Given the description of an element on the screen output the (x, y) to click on. 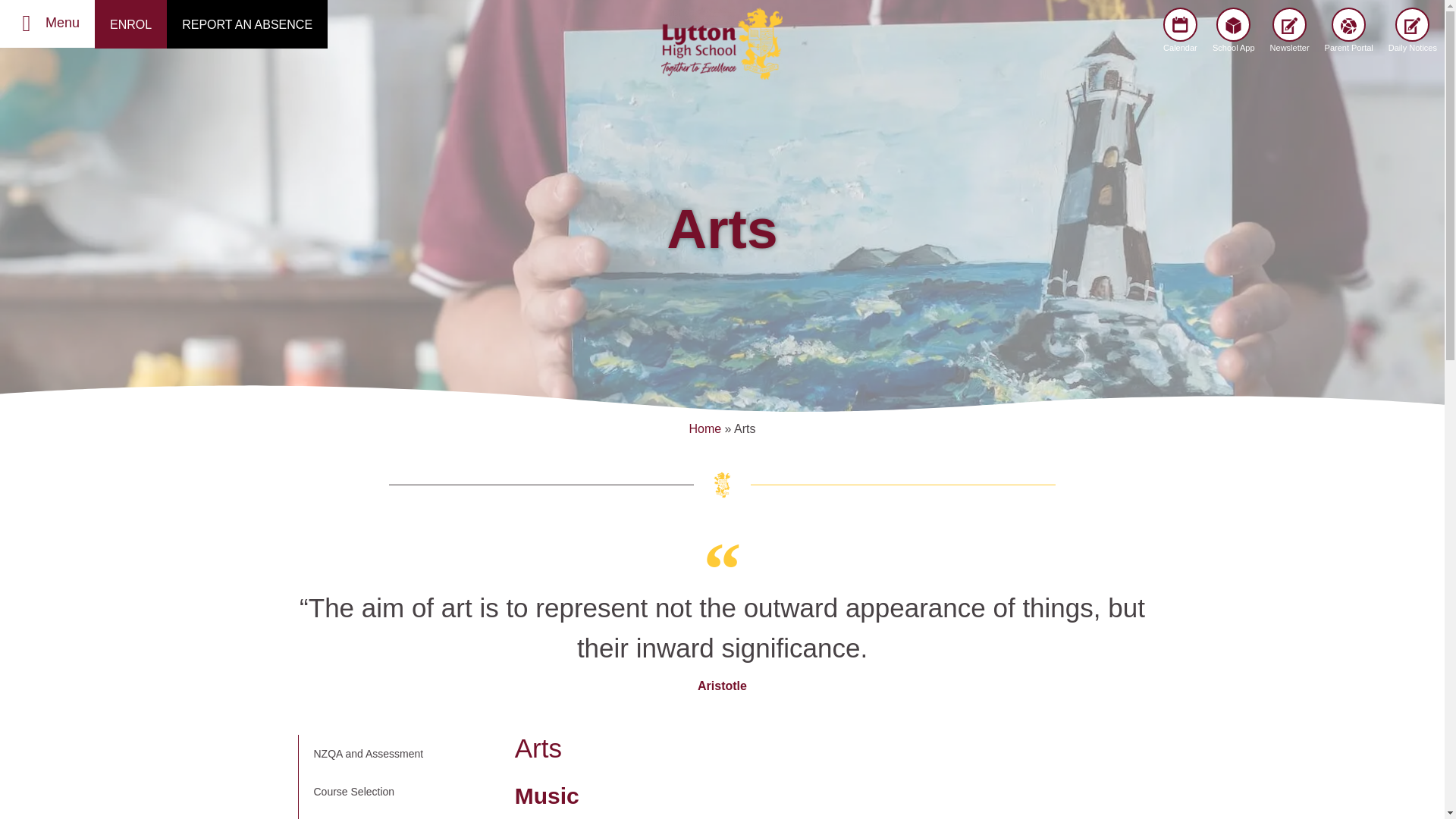
NZQA and Assessment (398, 753)
Menu (62, 22)
Course Selection (398, 791)
Home (704, 428)
REPORT AN ABSENCE (247, 24)
Academic Excellence (398, 814)
ENROL (130, 24)
